Given the description of an element on the screen output the (x, y) to click on. 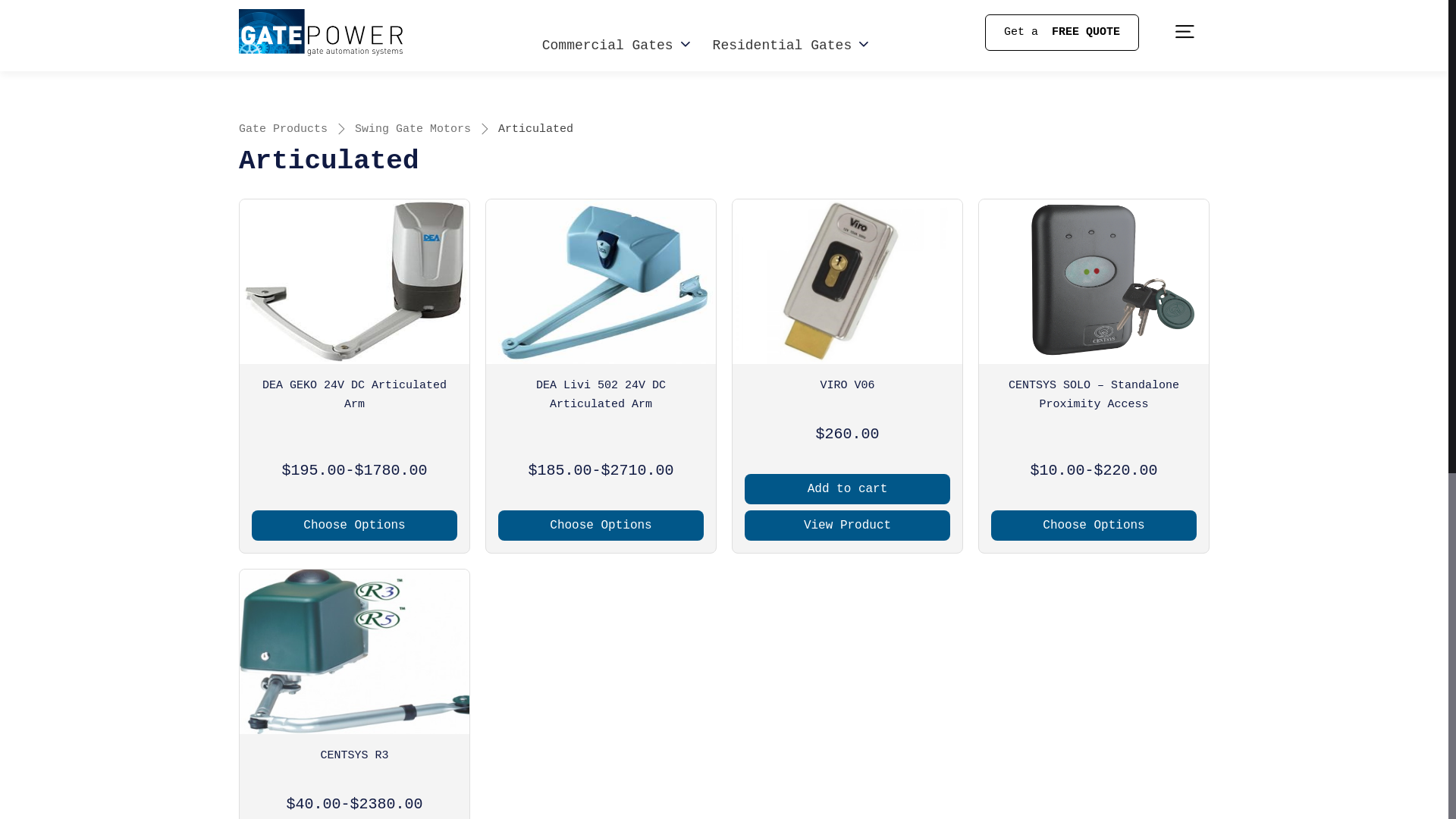
Choose Options Element type: text (600, 525)
Choose Options Element type: text (354, 525)
Swing Gate Motors Element type: text (412, 129)
Gate Products Element type: text (282, 129)
DEA Livi 502 24V DC Articulated Arm Element type: text (600, 395)
VIRO V06 Element type: text (847, 385)
Get a  
FREE QUOTE Element type: text (1062, 32)
Choose Options Element type: text (1093, 525)
DEA GEKO 24V DC Articulated Arm Element type: text (354, 395)
CENTSYS R3 Element type: text (354, 755)
Add to cart Element type: text (847, 488)
Commercial Gates Element type: text (616, 45)
View Product Element type: text (847, 525)
Residential Gates Element type: text (790, 45)
